Given the description of an element on the screen output the (x, y) to click on. 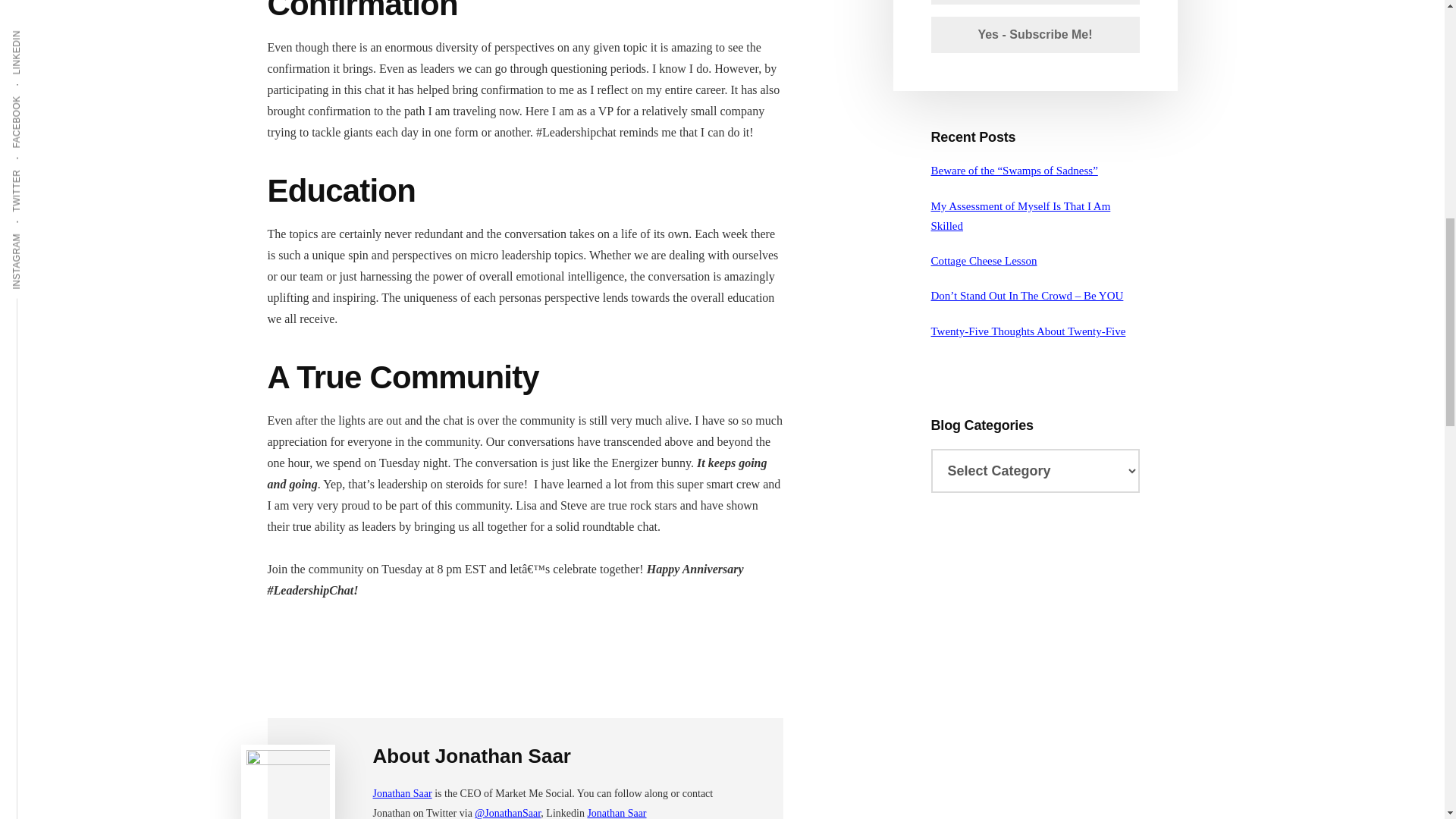
Jonathan Saar (616, 813)
Jonathan Saar (402, 793)
Yes - Subscribe Me! (1035, 34)
